Given the description of an element on the screen output the (x, y) to click on. 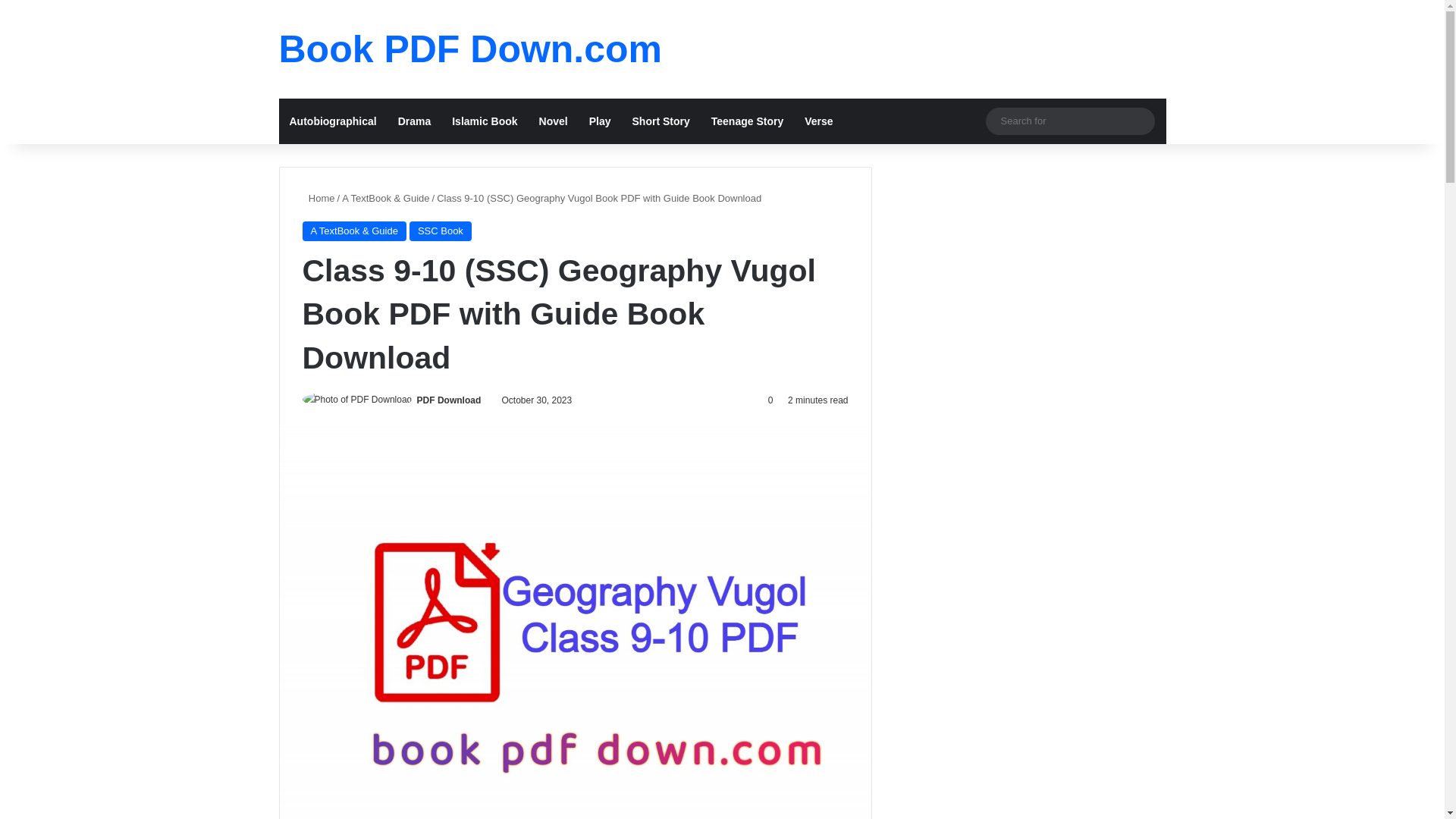
Play (599, 121)
Autobiographical (333, 121)
SSC Book (440, 230)
Book PDF Down.com (470, 48)
Islamic Book (484, 121)
Drama (414, 121)
Home (317, 197)
Short Story (660, 121)
Search for (1139, 121)
Teenage Story (746, 121)
Book PDF Down.com (470, 48)
Novel (553, 121)
Search for (1069, 120)
Verse (818, 121)
PDF Download (448, 399)
